Given the description of an element on the screen output the (x, y) to click on. 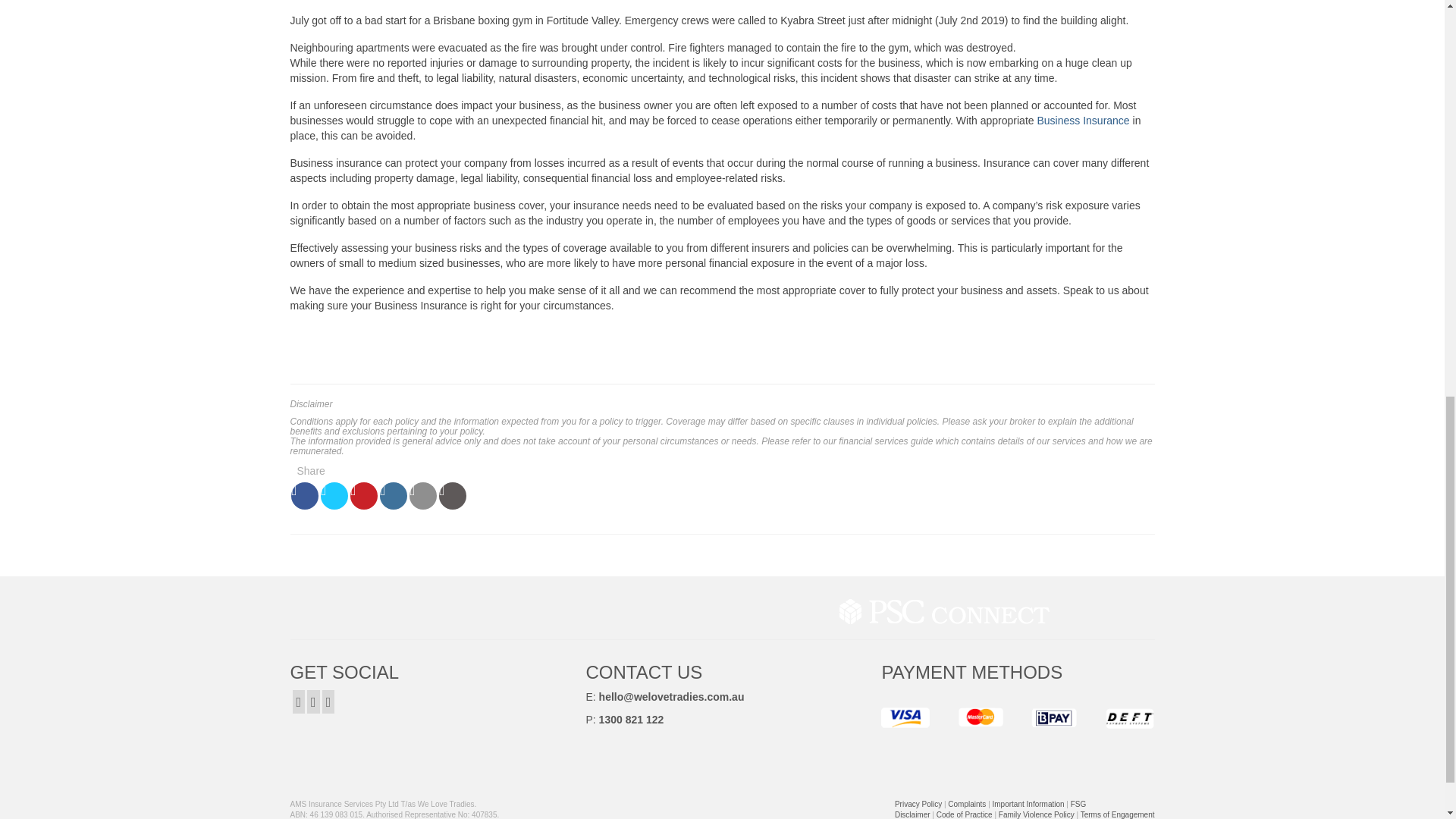
Share on Pinterest (363, 495)
Print (452, 495)
Share on Facebook (304, 495)
Business Insurance (1082, 120)
Share on Twitter (333, 495)
Share it on Email (422, 495)
Share on LinkedIn (393, 495)
